Given the description of an element on the screen output the (x, y) to click on. 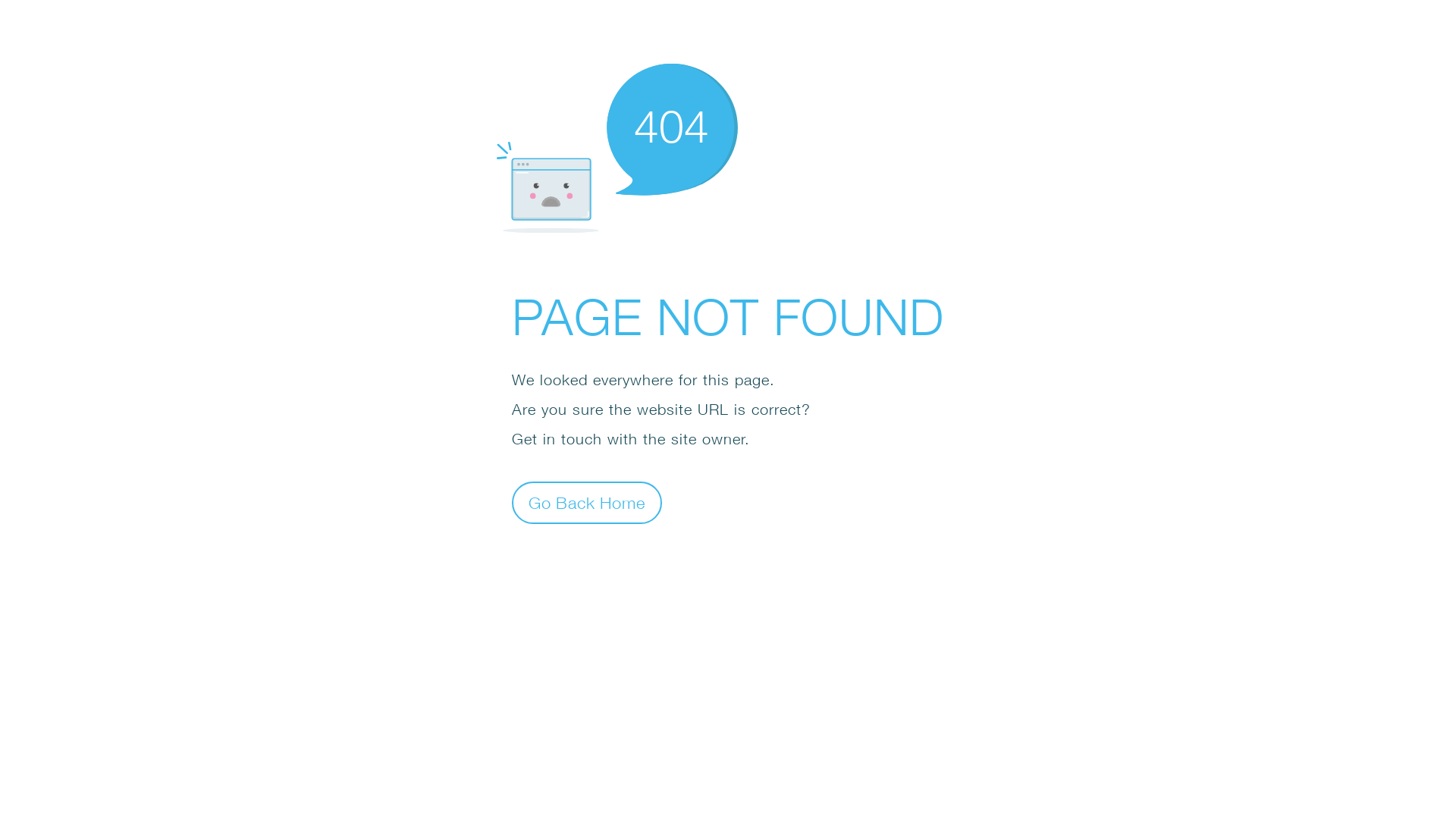
Go Back Home Element type: text (586, 502)
